Given the description of an element on the screen output the (x, y) to click on. 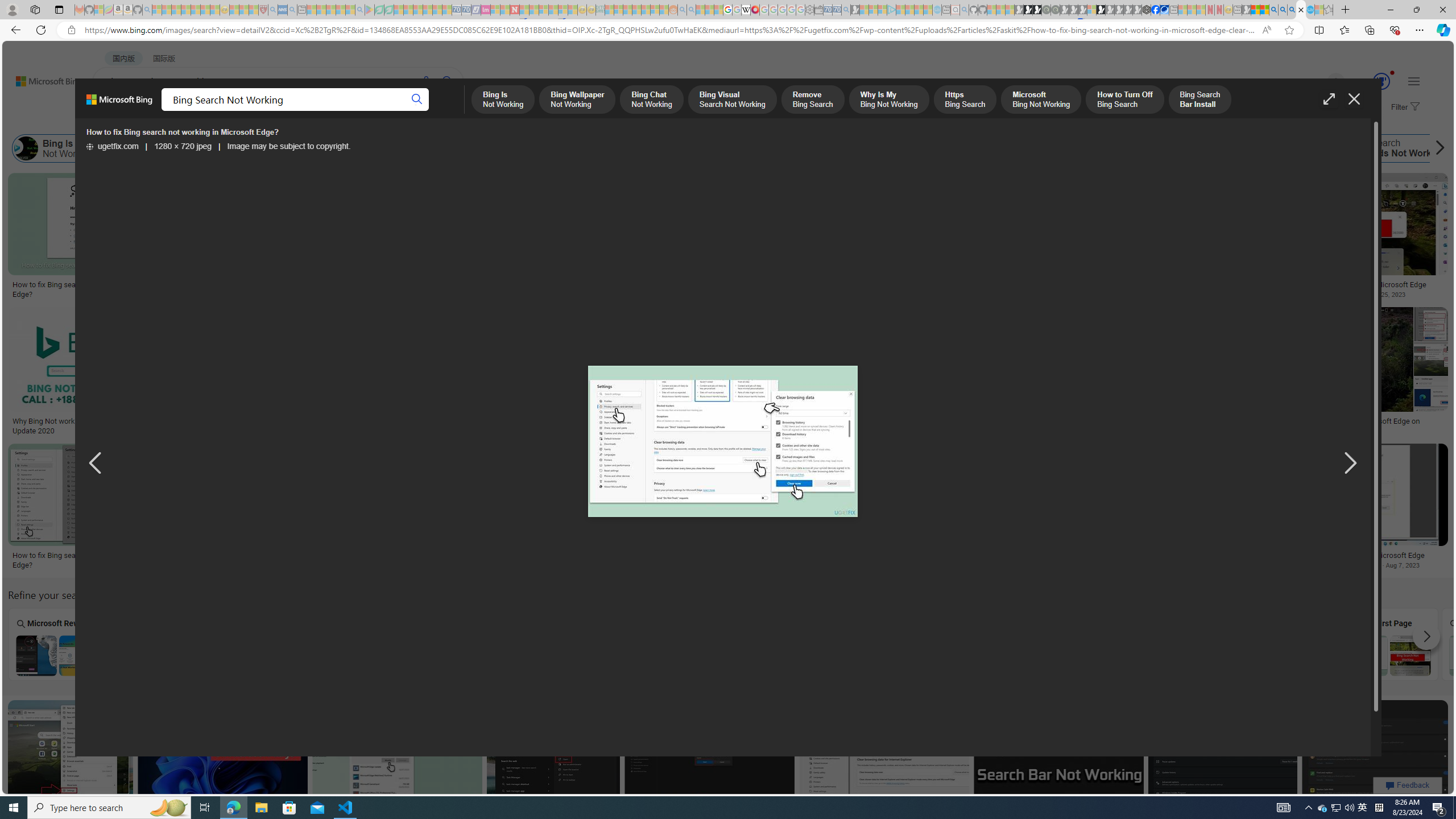
Bing Video Search Not Working (876, 655)
Microsoft Start Gaming - Sleeping (854, 9)
Bluey: Let's Play! - Apps on Google Play - Sleeping (369, 9)
Robert H. Shmerling, MD - Harvard Health - Sleeping (263, 9)
Settings and quick links (1413, 80)
White Bing Cherries (809, 280)
Bing Search Rewards Not Working (1388, 148)
Bing Not Working Properly (1134, 148)
